Given the description of an element on the screen output the (x, y) to click on. 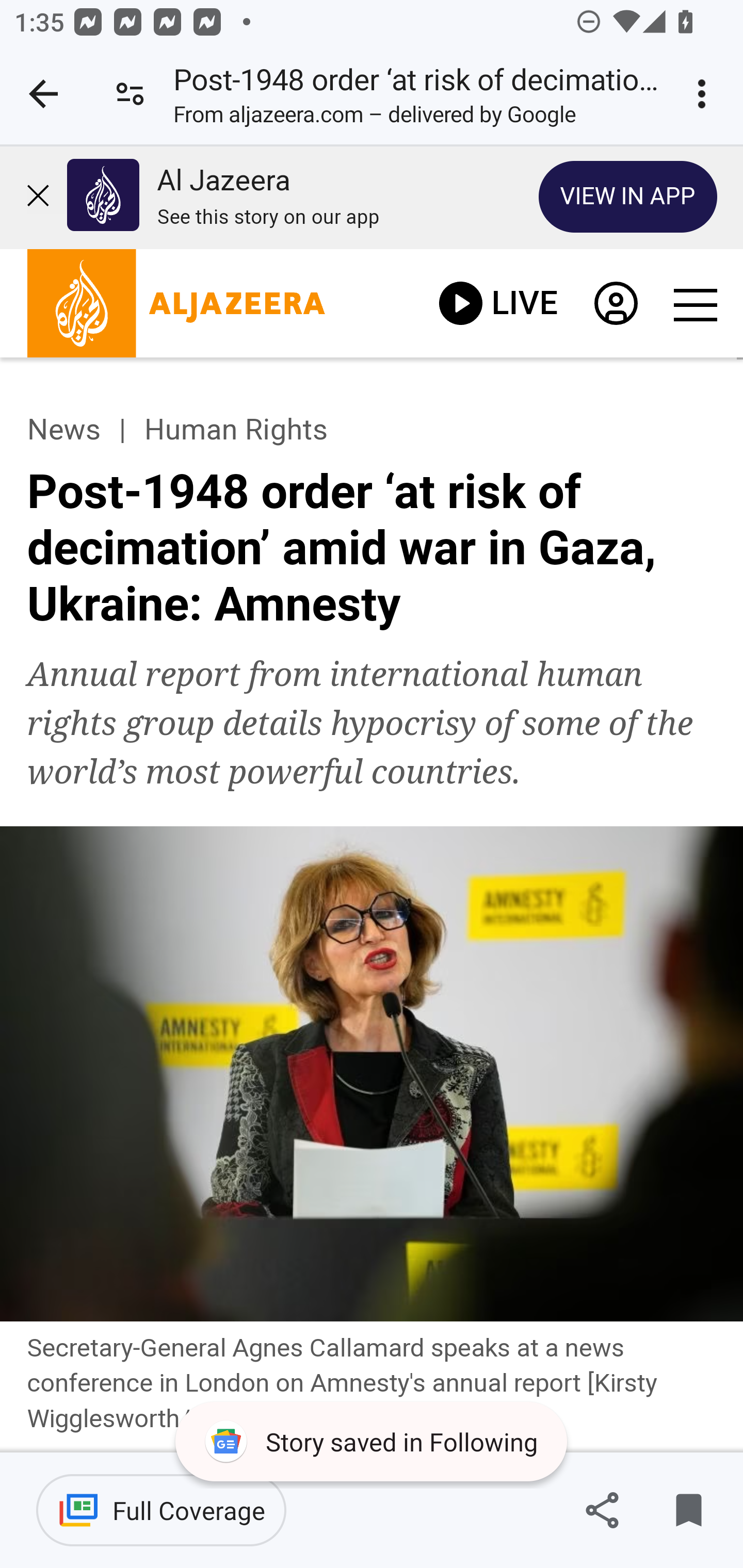
Close tab (43, 93)
Customize and control Google Chrome (705, 93)
Connection is secure (129, 93)
From aljazeera.com – delivered by Google (374, 117)
VIEW IN APP (627, 195)
Close mobile app download banner (46, 196)
www.aljazeera (176, 307)
Link to live stream video player LIVE (498, 303)
Sign in (615, 307)
Open the menu (694, 305)
News (63, 430)
Human Rights (235, 430)
Full Coverage (161, 1509)
Share (601, 1510)
Remove from saved stories (688, 1510)
